Given the description of an element on the screen output the (x, y) to click on. 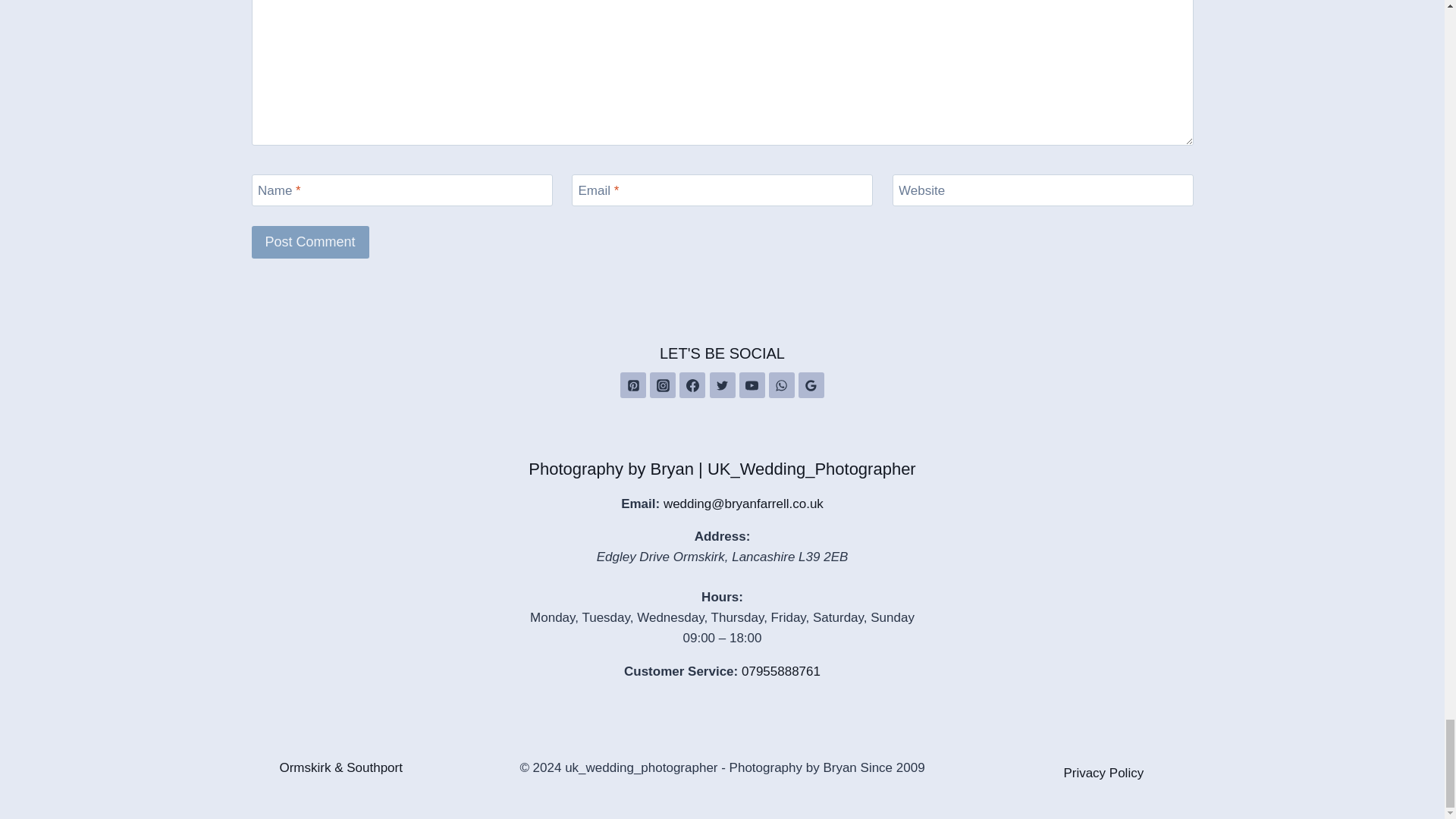
Post Comment (310, 242)
